Given the description of an element on the screen output the (x, y) to click on. 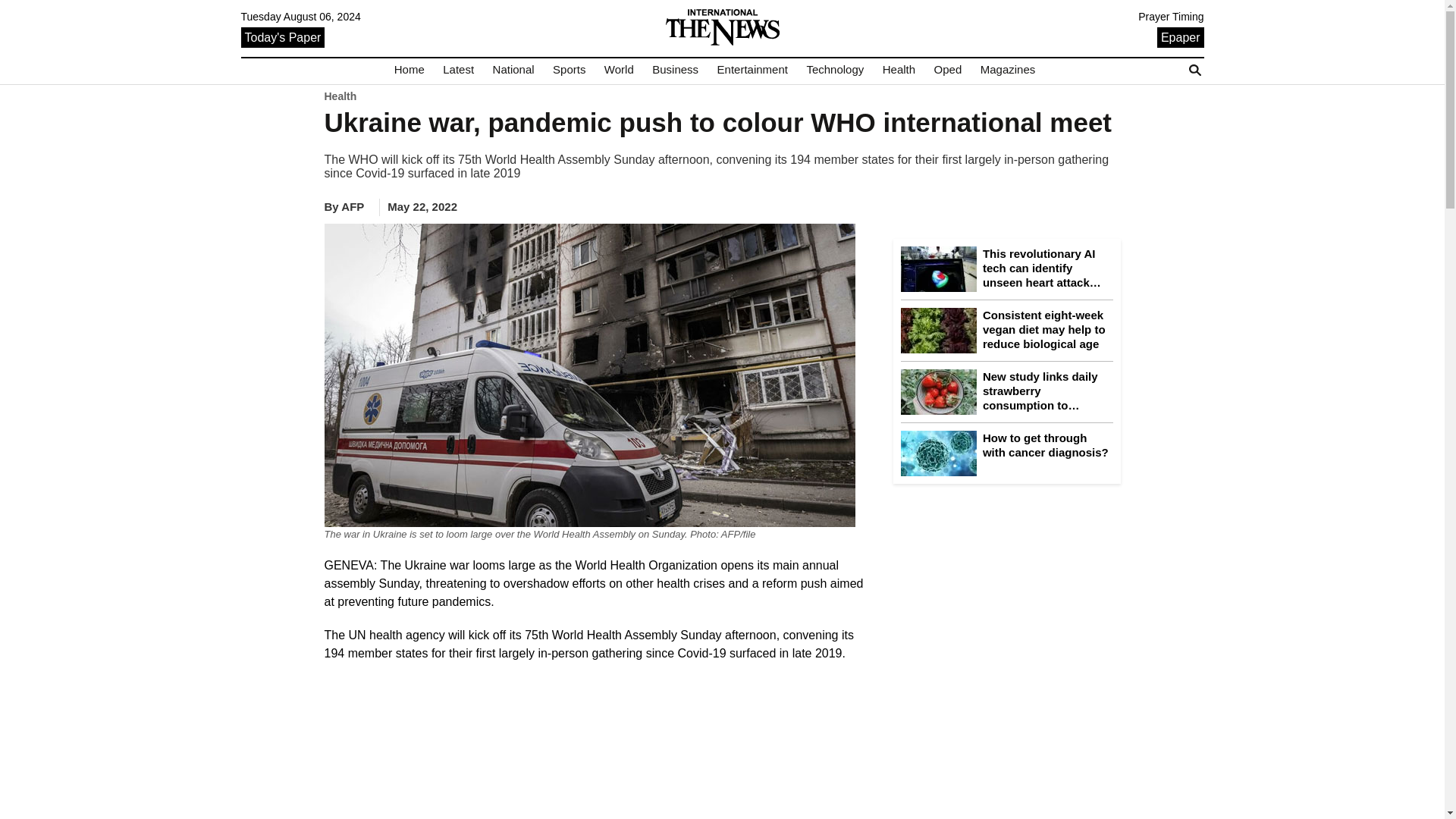
Health (899, 69)
Home (409, 69)
Today's Paper (282, 37)
Technology (833, 69)
Sports (568, 69)
World (619, 69)
National (512, 69)
Entertainment (752, 69)
Latest (458, 69)
Prayer Timing (1171, 16)
